Given the description of an element on the screen output the (x, y) to click on. 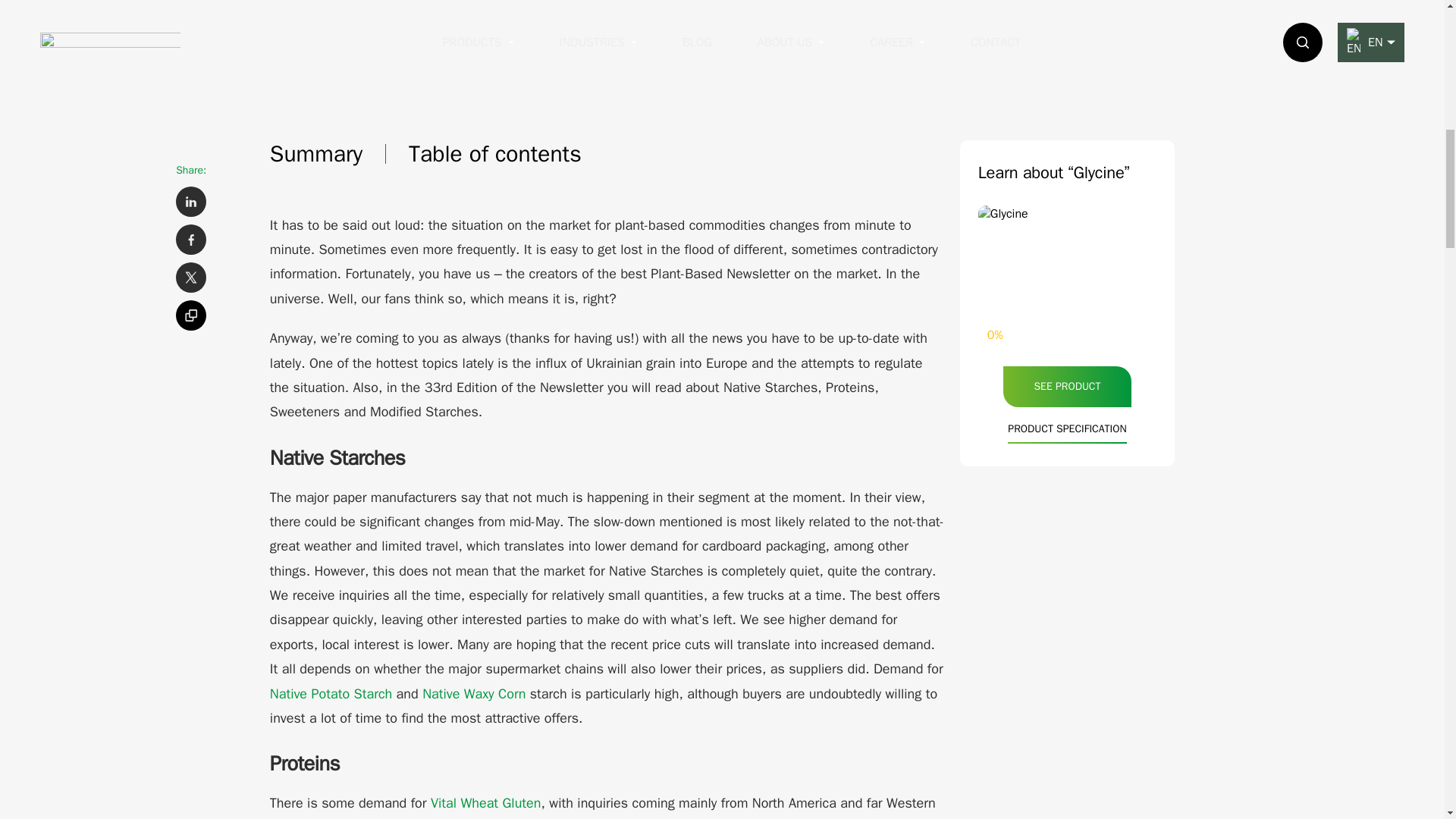
Glycine (1067, 258)
33rd Edition of Foodcom PLANT-BASED Newsletter (722, 39)
